Given the description of an element on the screen output the (x, y) to click on. 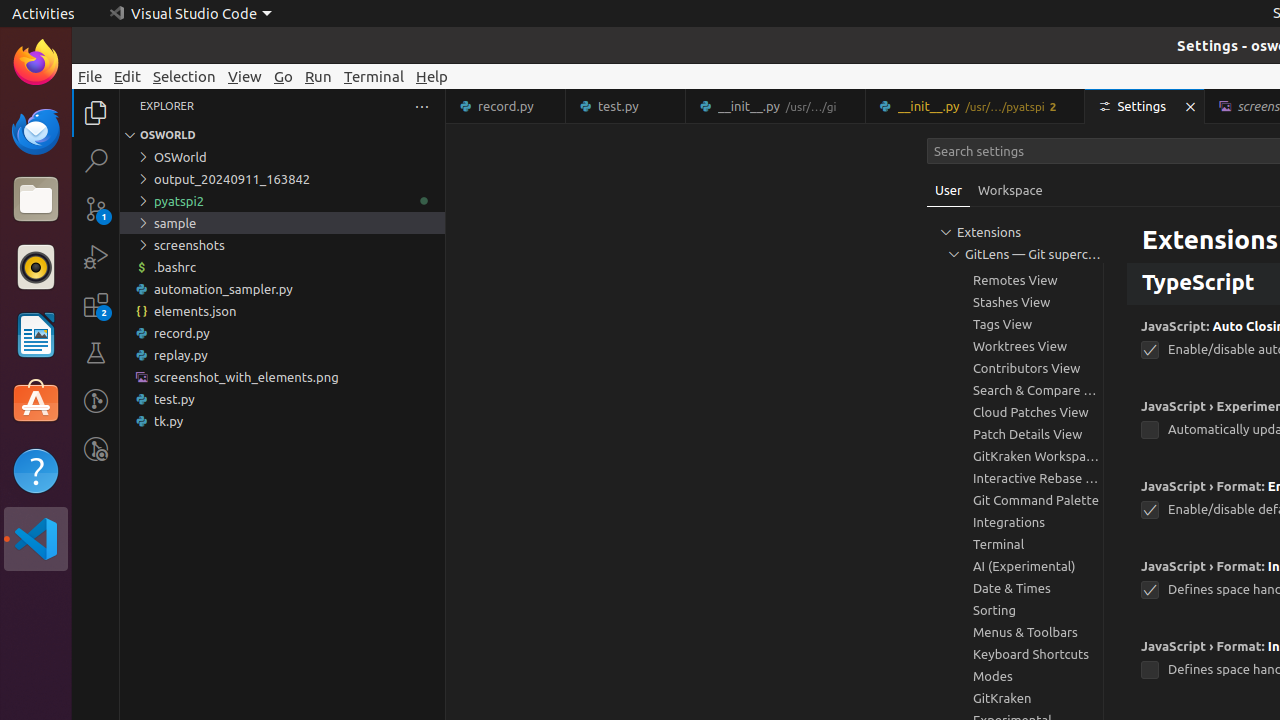
Git Command Palette, group Element type: tree-item (1015, 500)
Source Control (Ctrl+Shift+G G) - 1 pending changes Source Control (Ctrl+Shift+G G) - 1 pending changes Element type: page-tab (96, 208)
Selection Element type: push-button (184, 76)
Line History View, group Element type: tree-item (1015, 236)
javascript.format.insertSpaceAfterCommaDelimiter Element type: check-box (1150, 590)
